Given the description of an element on the screen output the (x, y) to click on. 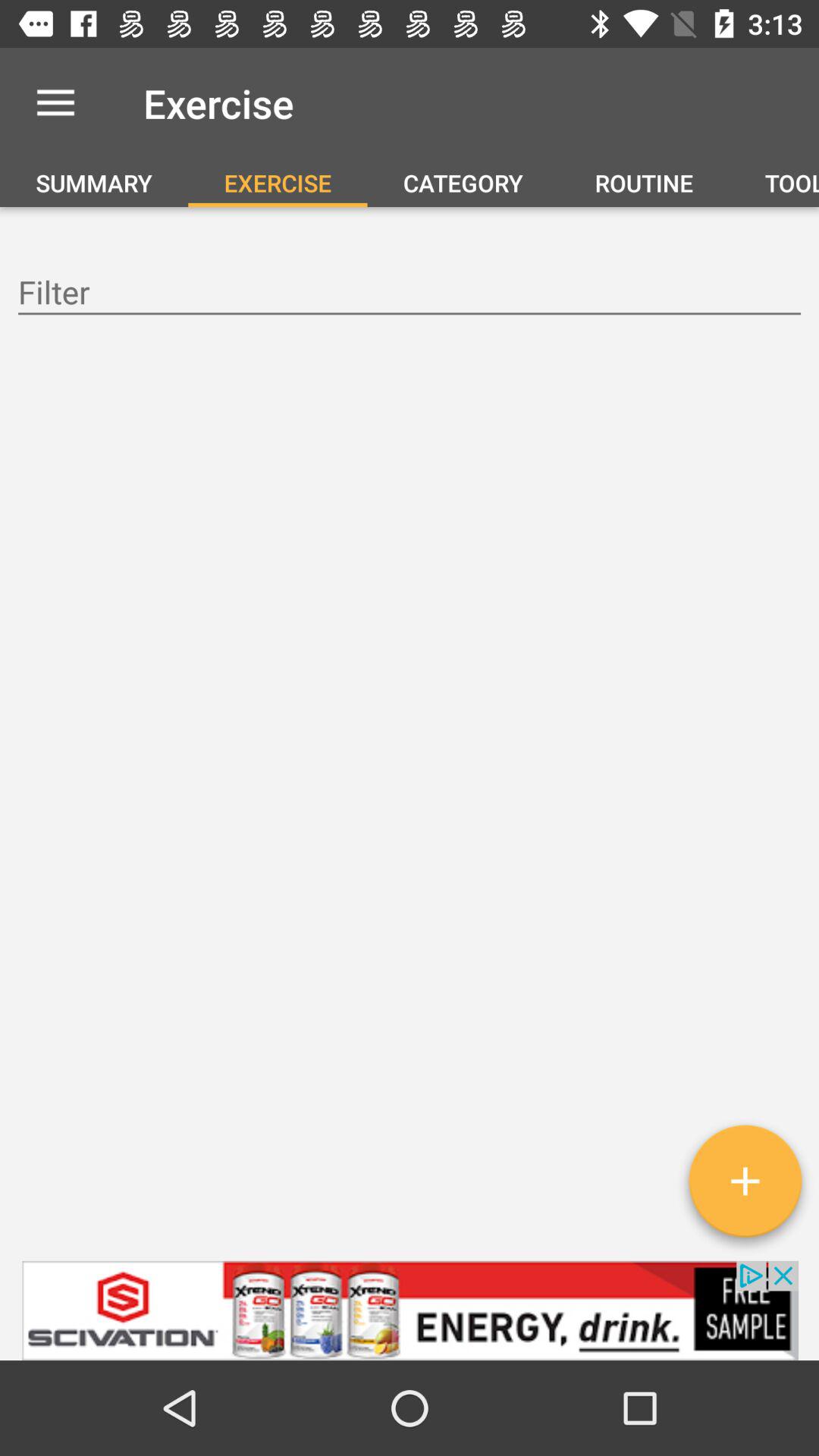
click on advertisement (409, 1310)
